Given the description of an element on the screen output the (x, y) to click on. 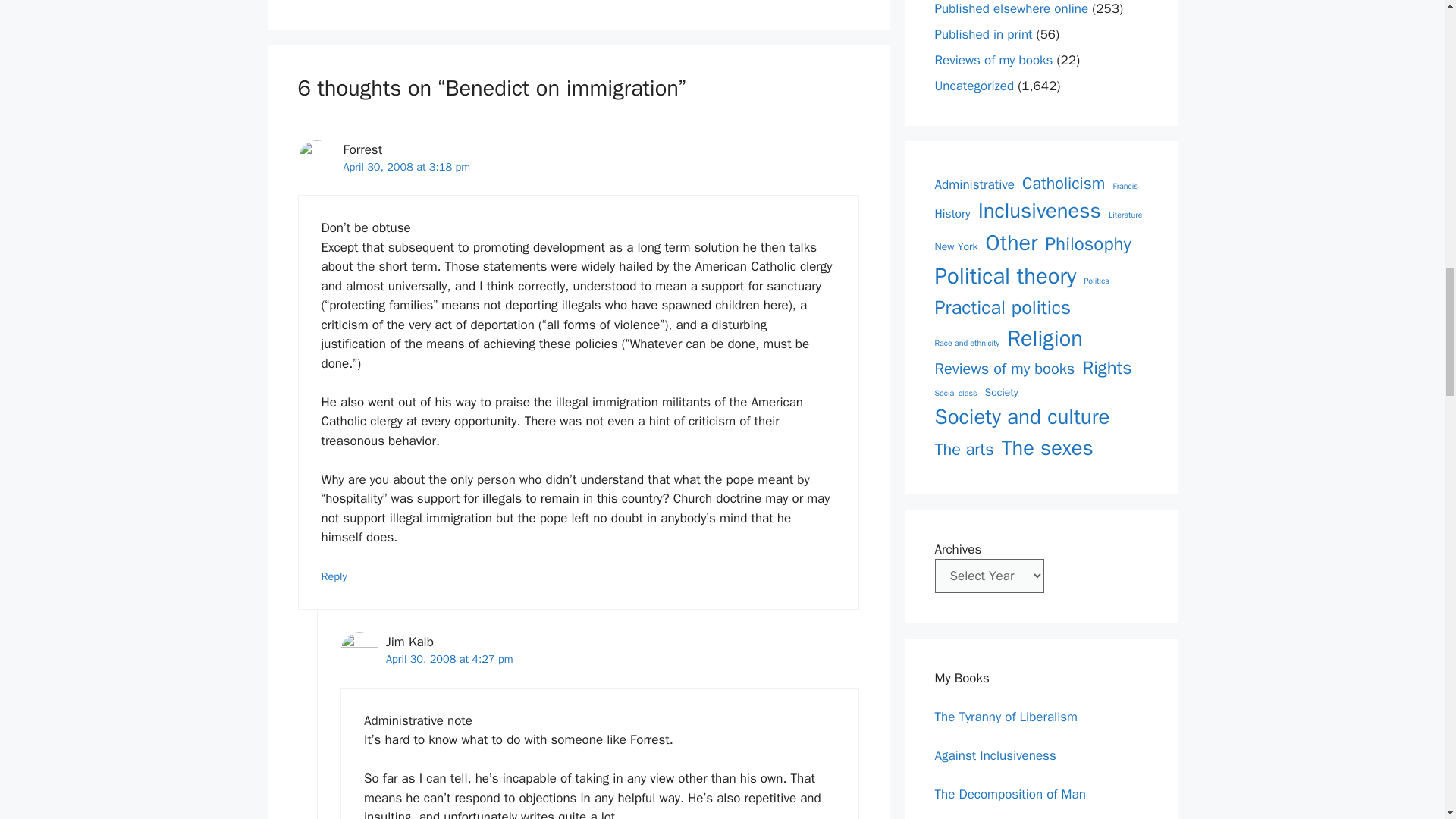
April 30, 2008 at 3:18 pm (406, 166)
Reply (334, 576)
April 30, 2008 at 4:27 pm (449, 658)
